Given the description of an element on the screen output the (x, y) to click on. 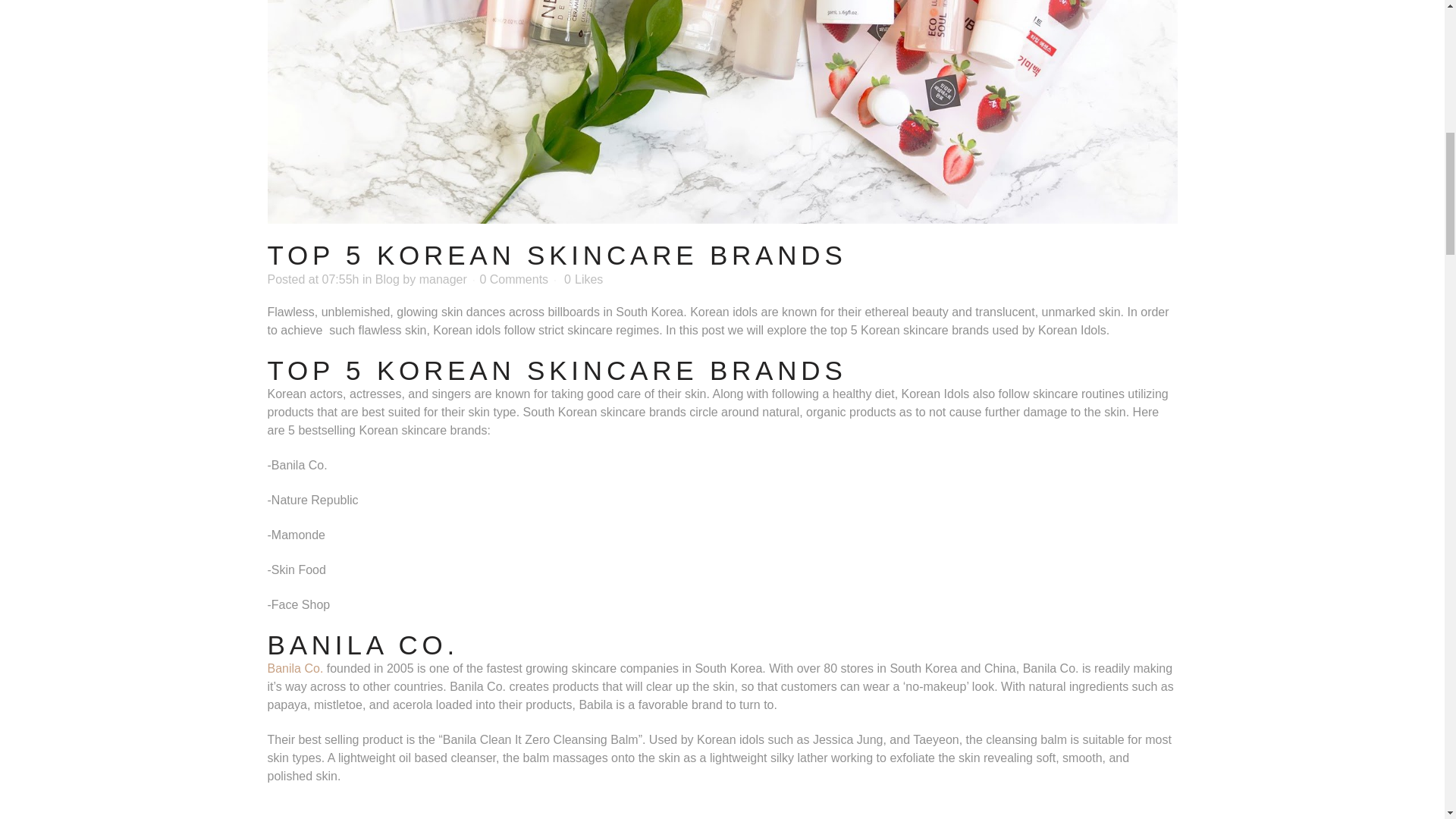
Like this (583, 279)
